Given the description of an element on the screen output the (x, y) to click on. 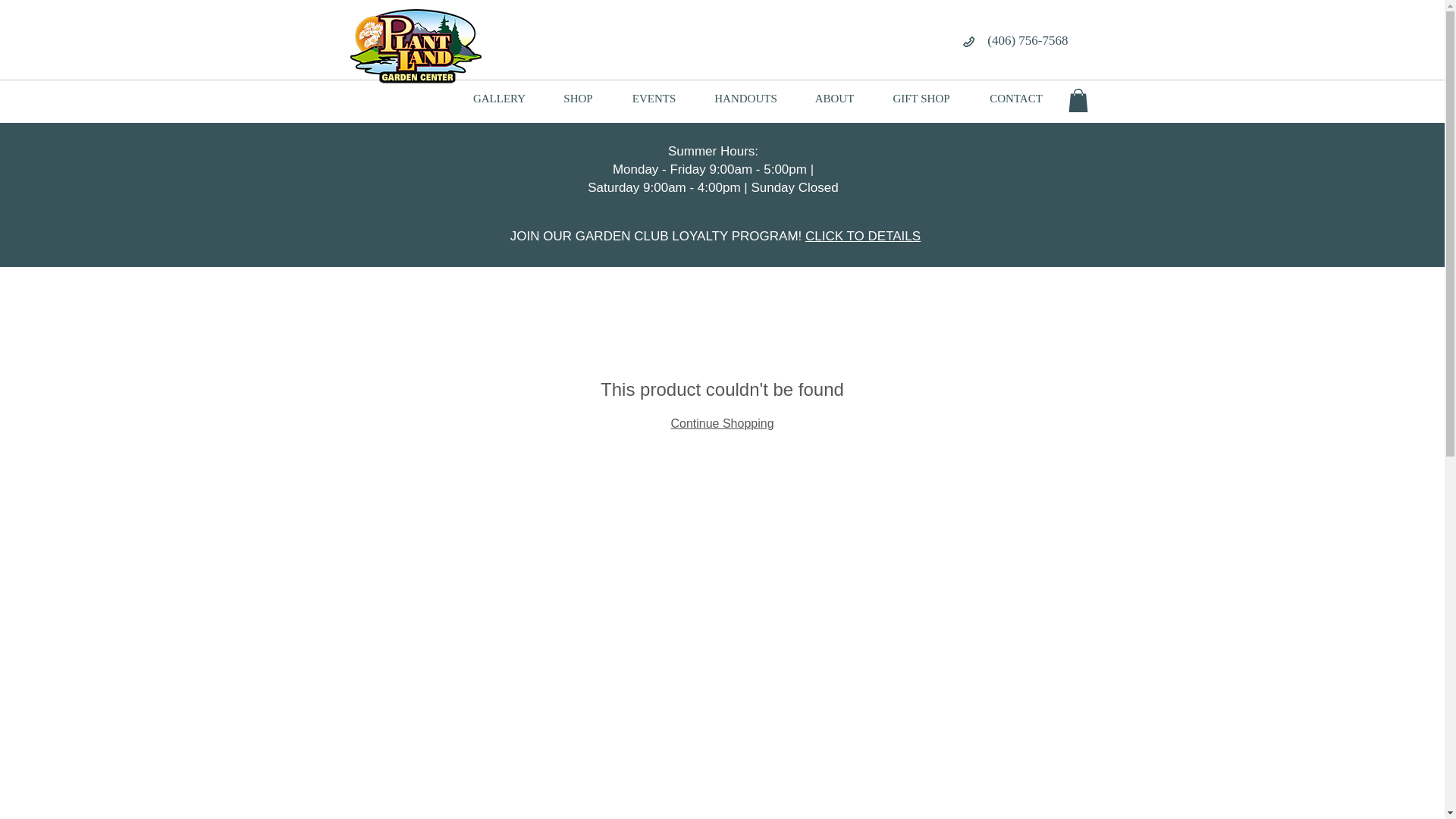
GIFT SHOP (920, 98)
EVENTS (653, 98)
CONTACT (1016, 98)
HANDOUTS (745, 98)
GALLERY (498, 98)
ABOUT (834, 98)
SHOP (577, 98)
Continue Shopping (721, 422)
CLICK TO DETAILS (862, 236)
